Given the description of an element on the screen output the (x, y) to click on. 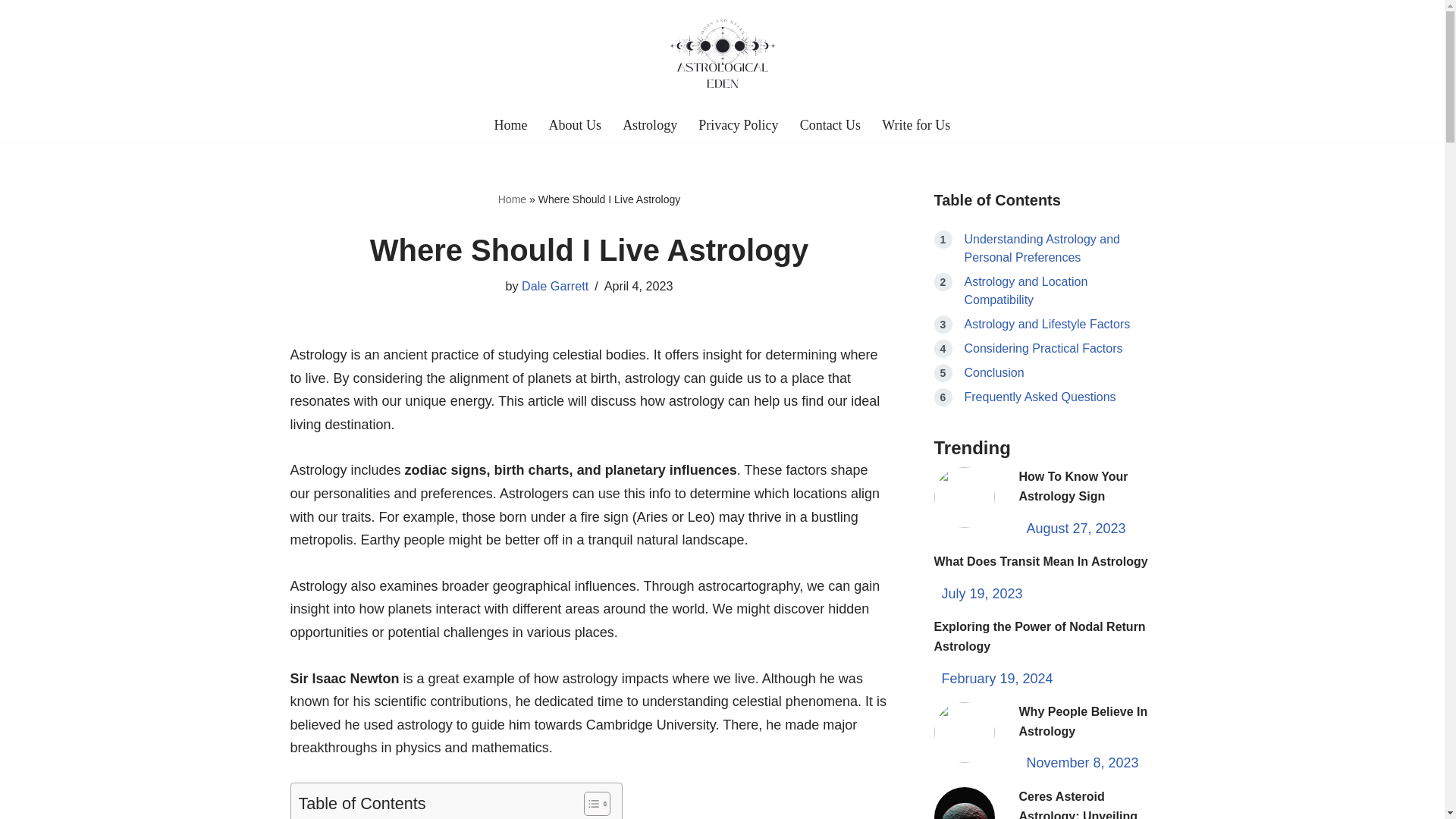
Astrology and Location Compatibility (1025, 290)
Contact Us (830, 124)
Write for Us (916, 124)
Privacy Policy (738, 124)
Understanding Astrology and Personal Preferences (1041, 247)
Astrology (650, 124)
About Us (575, 124)
Dale Garrett (554, 285)
Home (511, 124)
Skip to content (11, 31)
Posts by Dale Garrett (554, 285)
Astrology and Lifestyle Factors (1047, 323)
Home (511, 199)
